Given the description of an element on the screen output the (x, y) to click on. 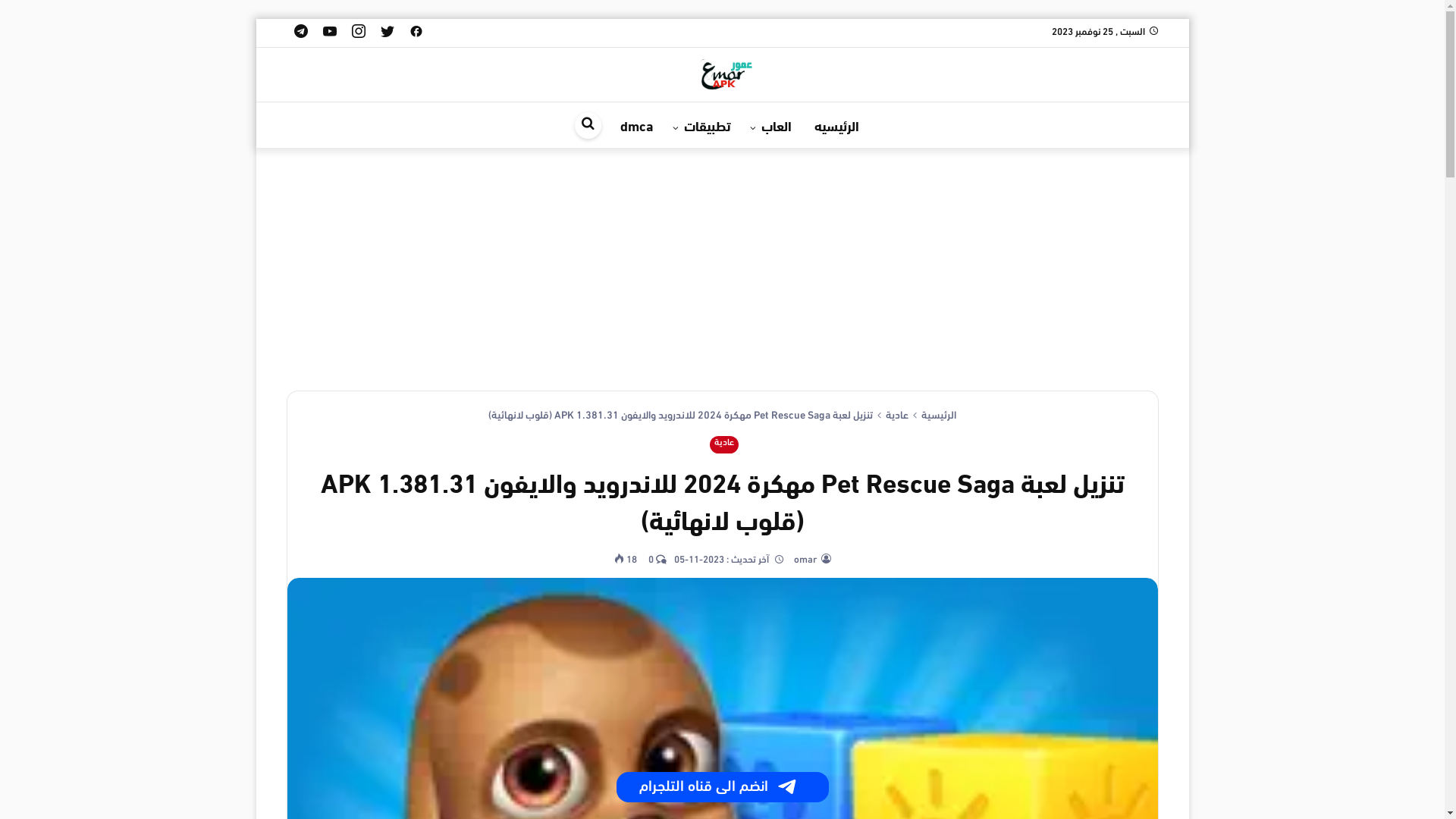
Advertisement Element type: hover (722, 269)
omar Element type: text (804, 559)
dmca Element type: text (636, 124)
